Given the description of an element on the screen output the (x, y) to click on. 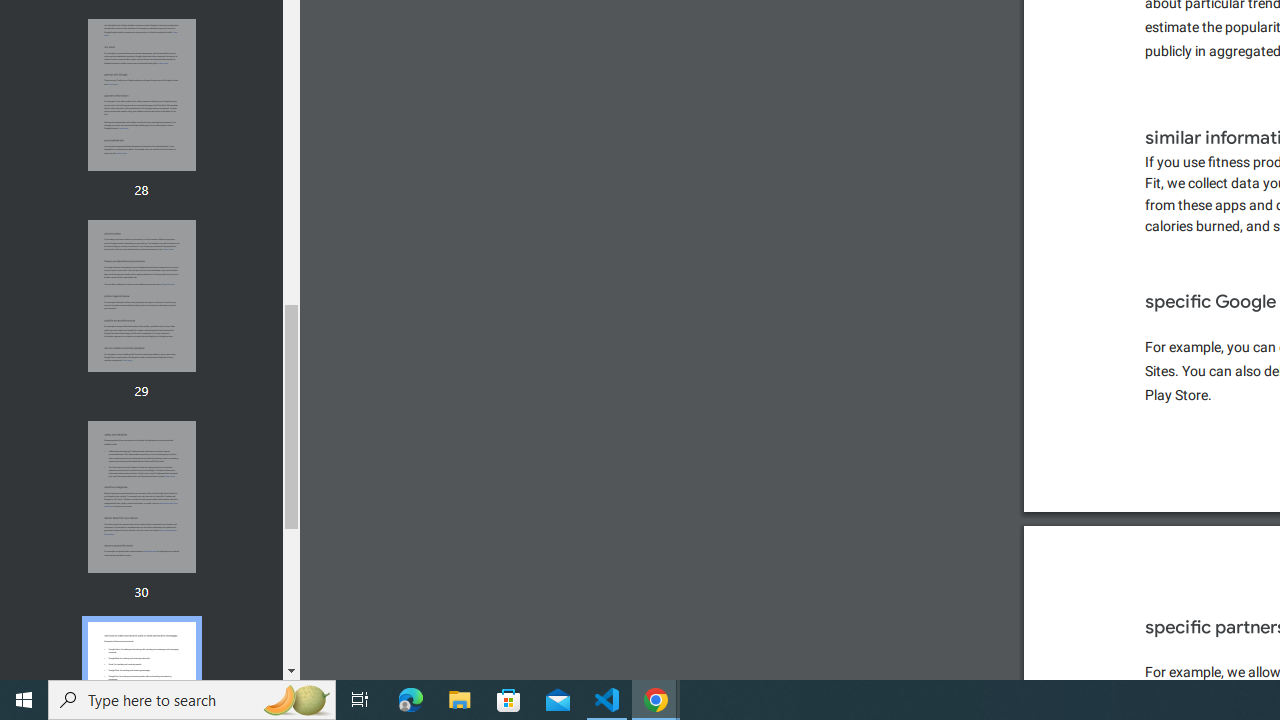
AutomationID: thumbnail (141, 497)
Thumbnail for page 30 (141, 497)
Thumbnail for page 29 (141, 295)
